Given the description of an element on the screen output the (x, y) to click on. 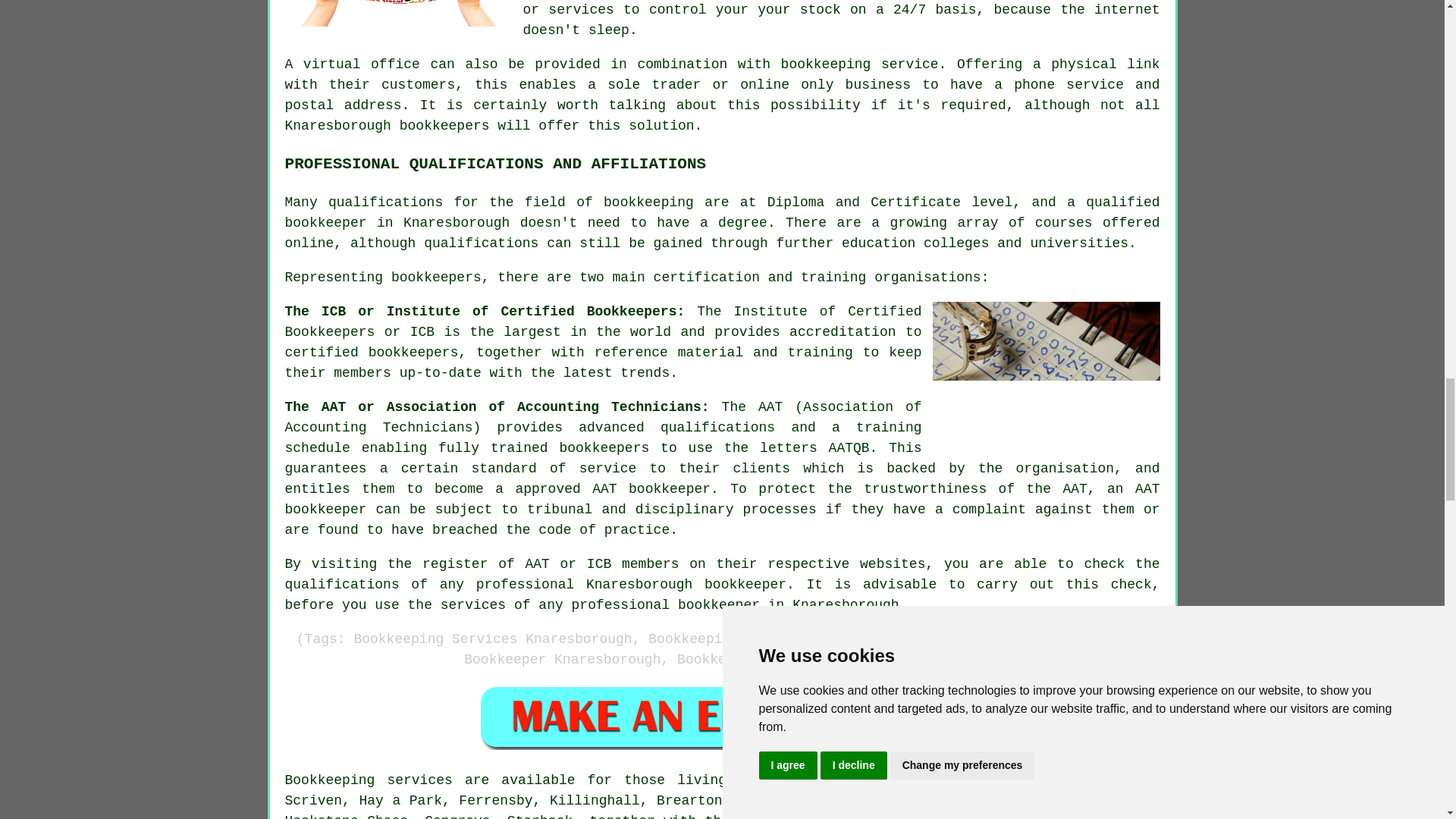
Bookkeeping Services Knaresborough (398, 13)
Bookkeeping services (368, 780)
Book Bookkeeper in Knaresborough UK (722, 716)
